Given the description of an element on the screen output the (x, y) to click on. 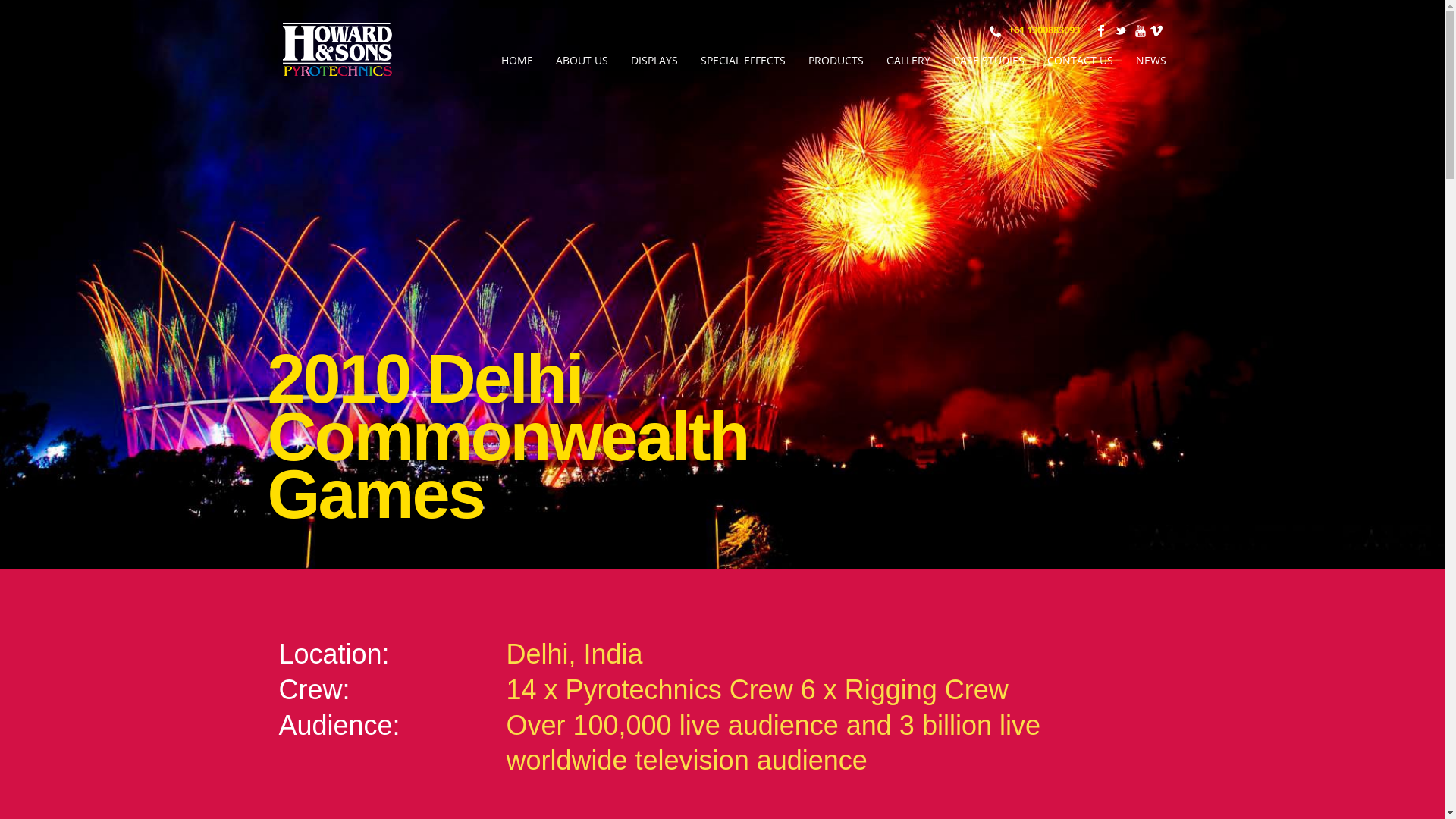
PRODUCTS Element type: text (835, 60)
ABOUT US Element type: text (581, 60)
CONTACT US Element type: text (1079, 60)
NEWS Element type: text (1149, 60)
HOME Element type: text (516, 60)
GALLERY Element type: text (908, 60)
SPECIAL EFFECTS Element type: text (742, 60)
DISPLAYS Element type: text (653, 60)
CASE STUDIES Element type: text (988, 60)
+61 1300883093 Element type: text (1043, 29)
